Given the description of an element on the screen output the (x, y) to click on. 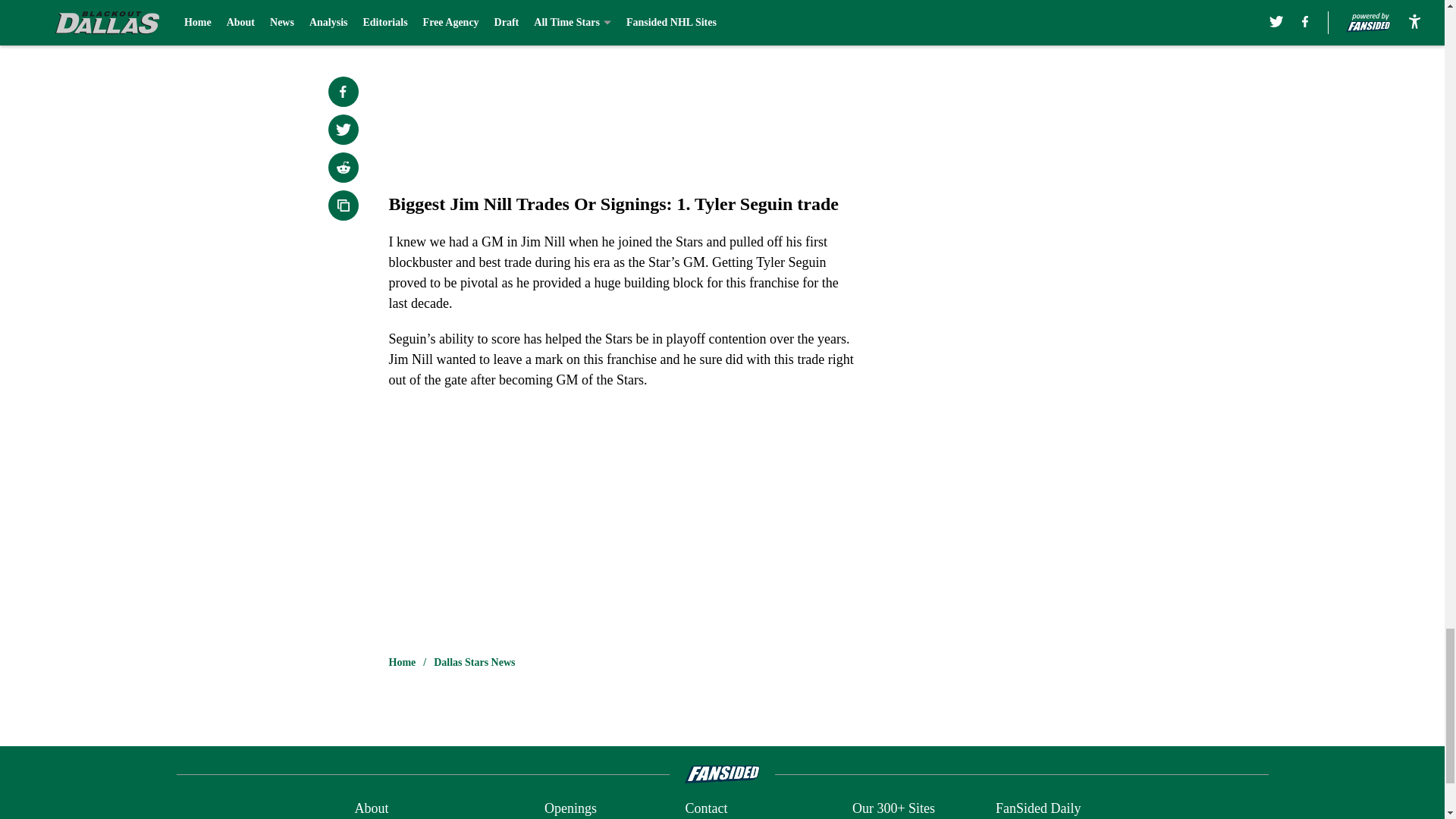
Home (401, 662)
Openings (570, 808)
FanSided Daily (1038, 808)
About (370, 808)
Dallas Stars News (474, 662)
Contact (705, 808)
